Given the description of an element on the screen output the (x, y) to click on. 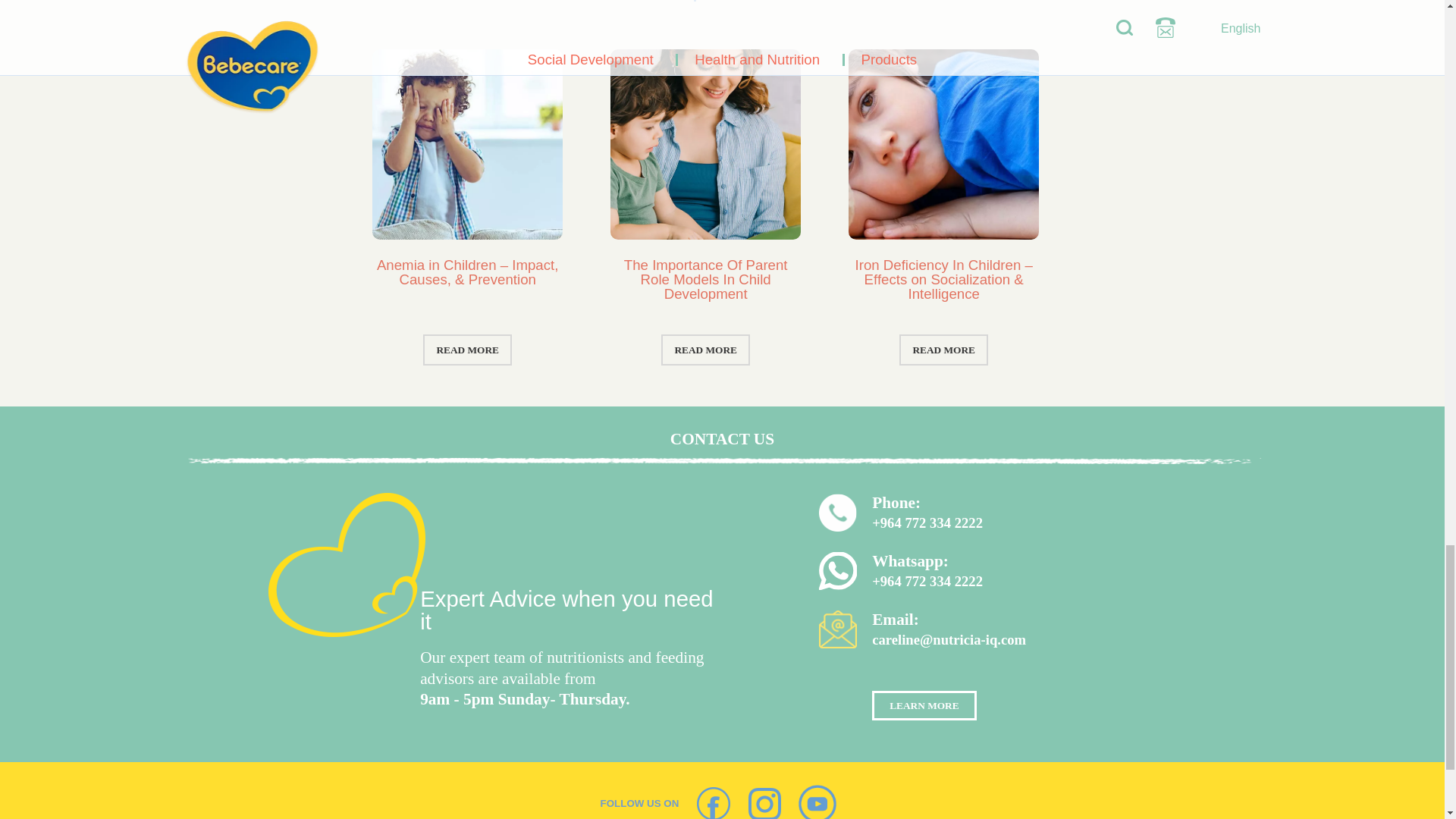
The Importance Of Parent Role Models In Child Development (705, 279)
READ MORE (943, 349)
READ MORE (705, 349)
READ MORE (467, 349)
LEARN MORE (923, 705)
